Given the description of an element on the screen output the (x, y) to click on. 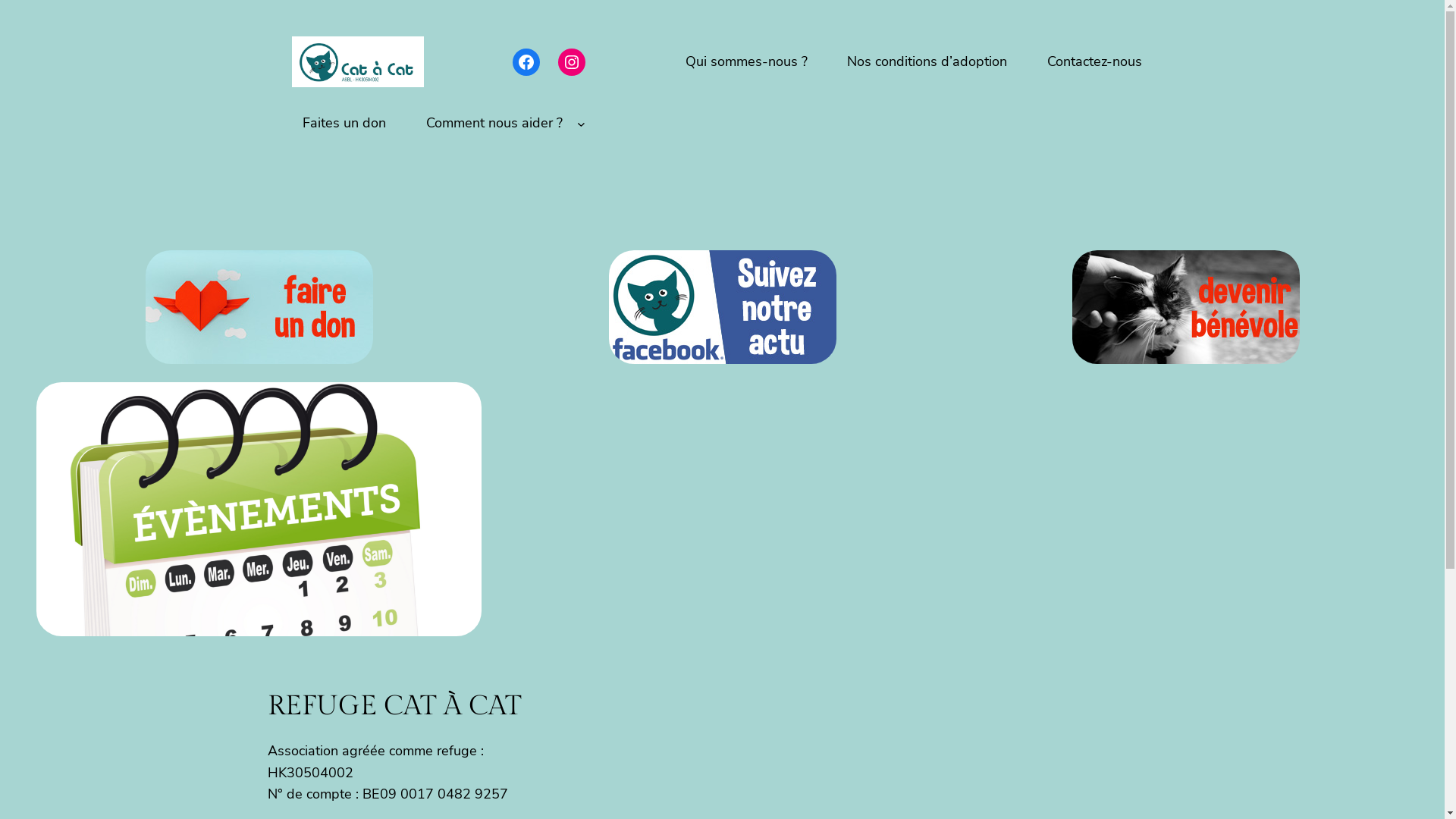
Instagram Element type: text (571, 61)
Facebook Element type: text (525, 61)
Faites un don Element type: text (343, 123)
Comment nous aider ? Element type: text (493, 123)
Contactez-nous Element type: text (1094, 61)
Qui sommes-nous ? Element type: text (746, 61)
